Given the description of an element on the screen output the (x, y) to click on. 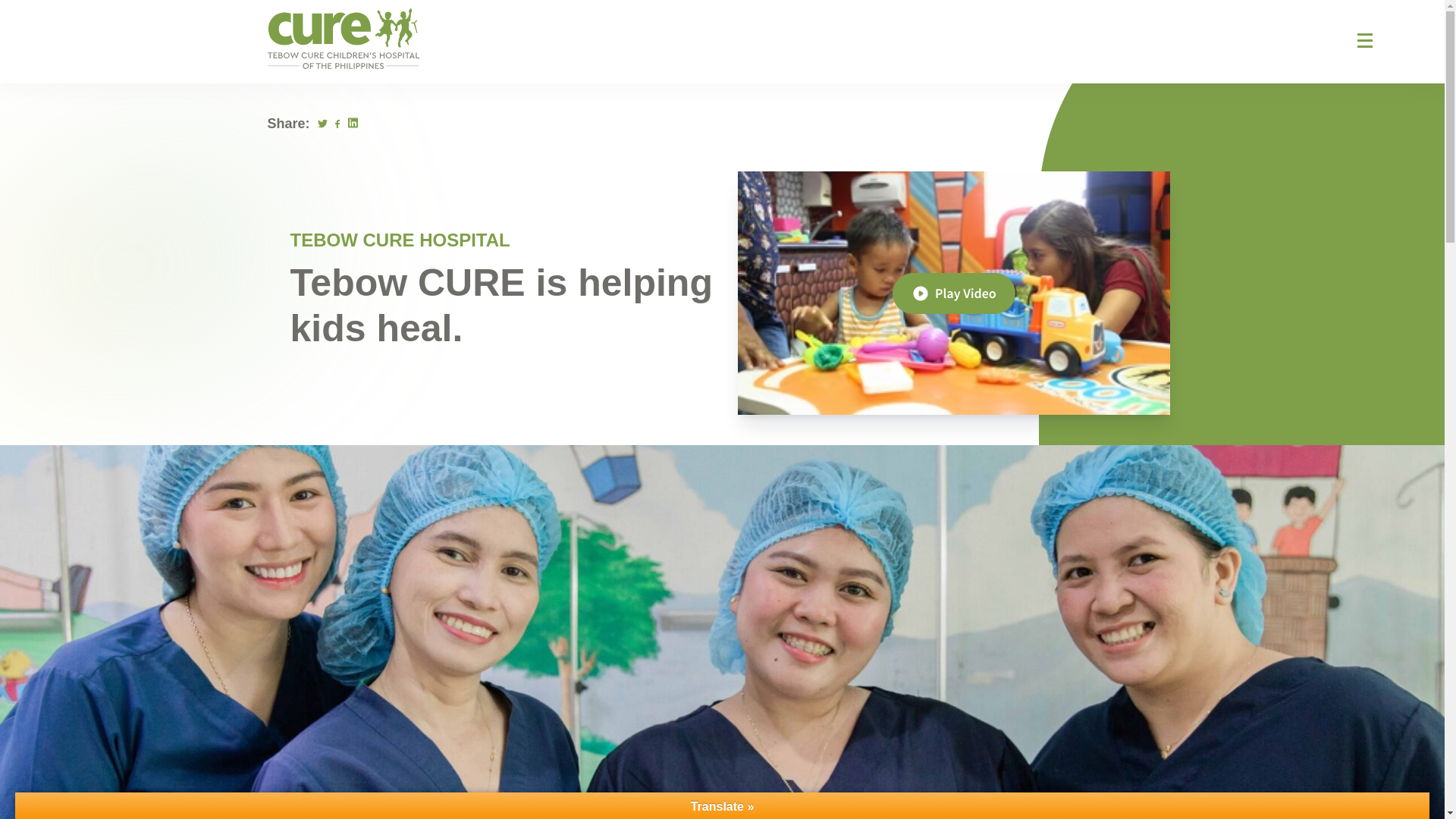
This Filipino Hospital is Making the Impossible Possible! (952, 292)
